Given the description of an element on the screen output the (x, y) to click on. 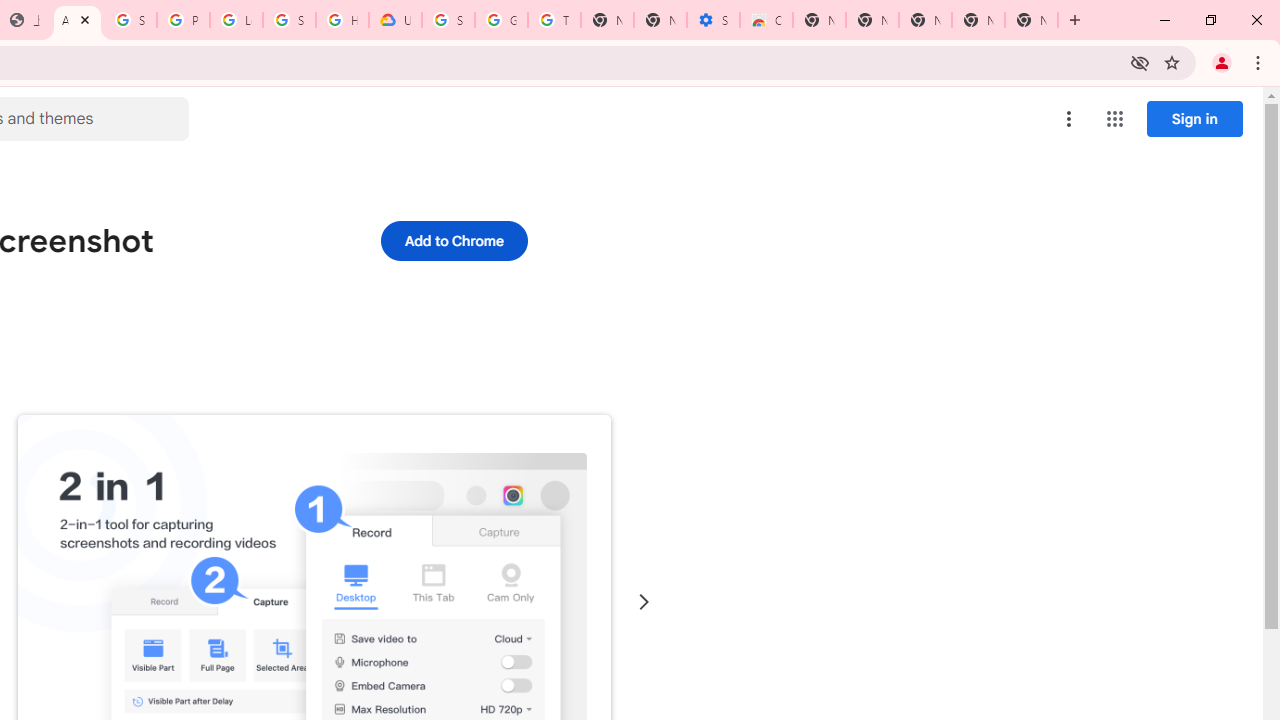
More options menu (1069, 118)
Sign in - Google Accounts (289, 20)
Add to Chrome (453, 240)
Next slide (643, 601)
Chrome Web Store - Accessibility extensions (766, 20)
New Tab (819, 20)
